Given the description of an element on the screen output the (x, y) to click on. 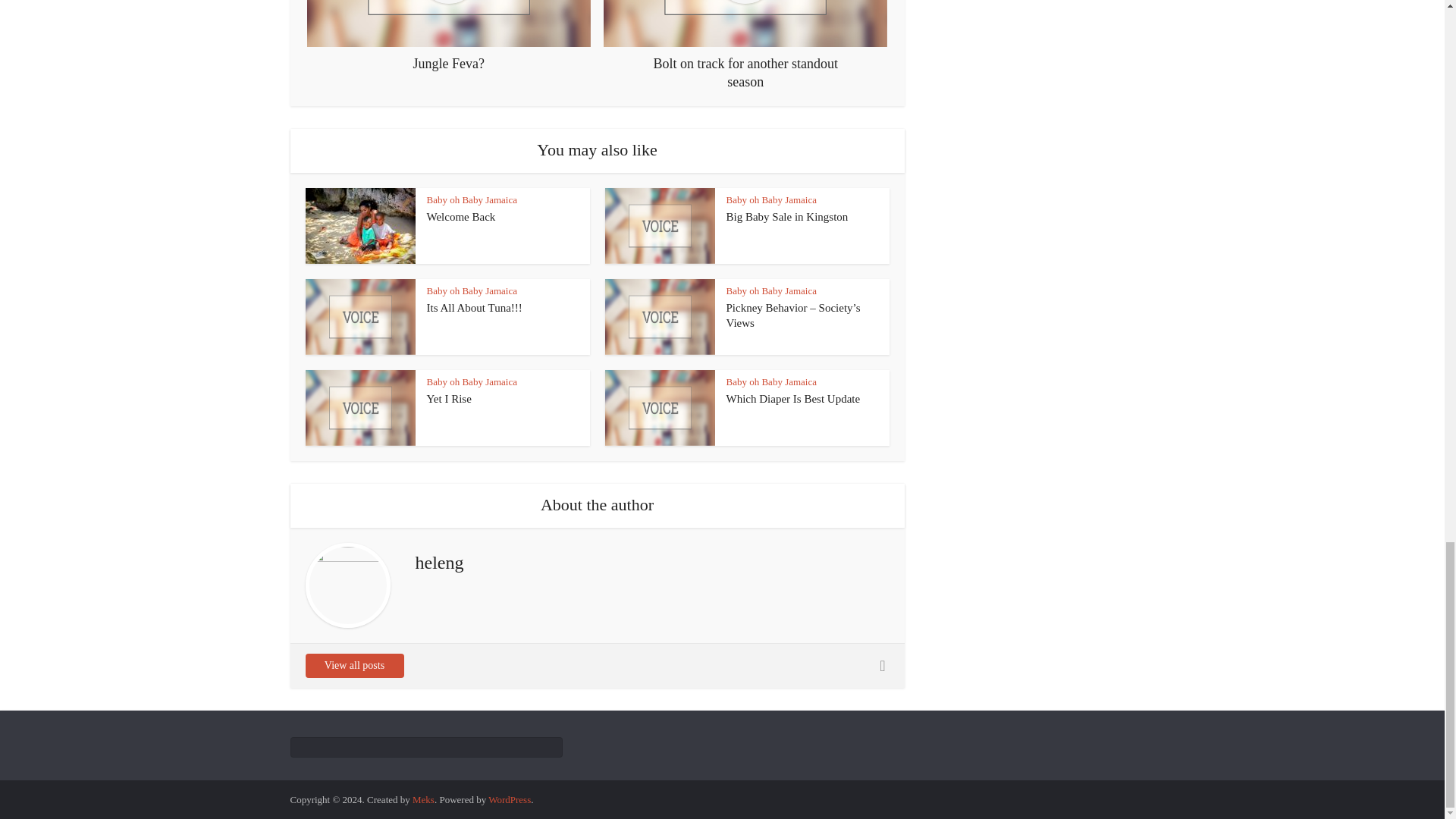
Big Baby Sale in Kingston (787, 216)
Welcome Back (460, 216)
Baby oh Baby Jamaica (471, 290)
Baby oh Baby Jamaica (471, 381)
Baby oh Baby Jamaica (771, 290)
Yet I Rise (448, 398)
Bolt on track for another standout season (745, 45)
Big Baby Sale in Kingston (787, 216)
Its All About Tuna!!! (473, 307)
Jungle Feva? (449, 36)
